Given the description of an element on the screen output the (x, y) to click on. 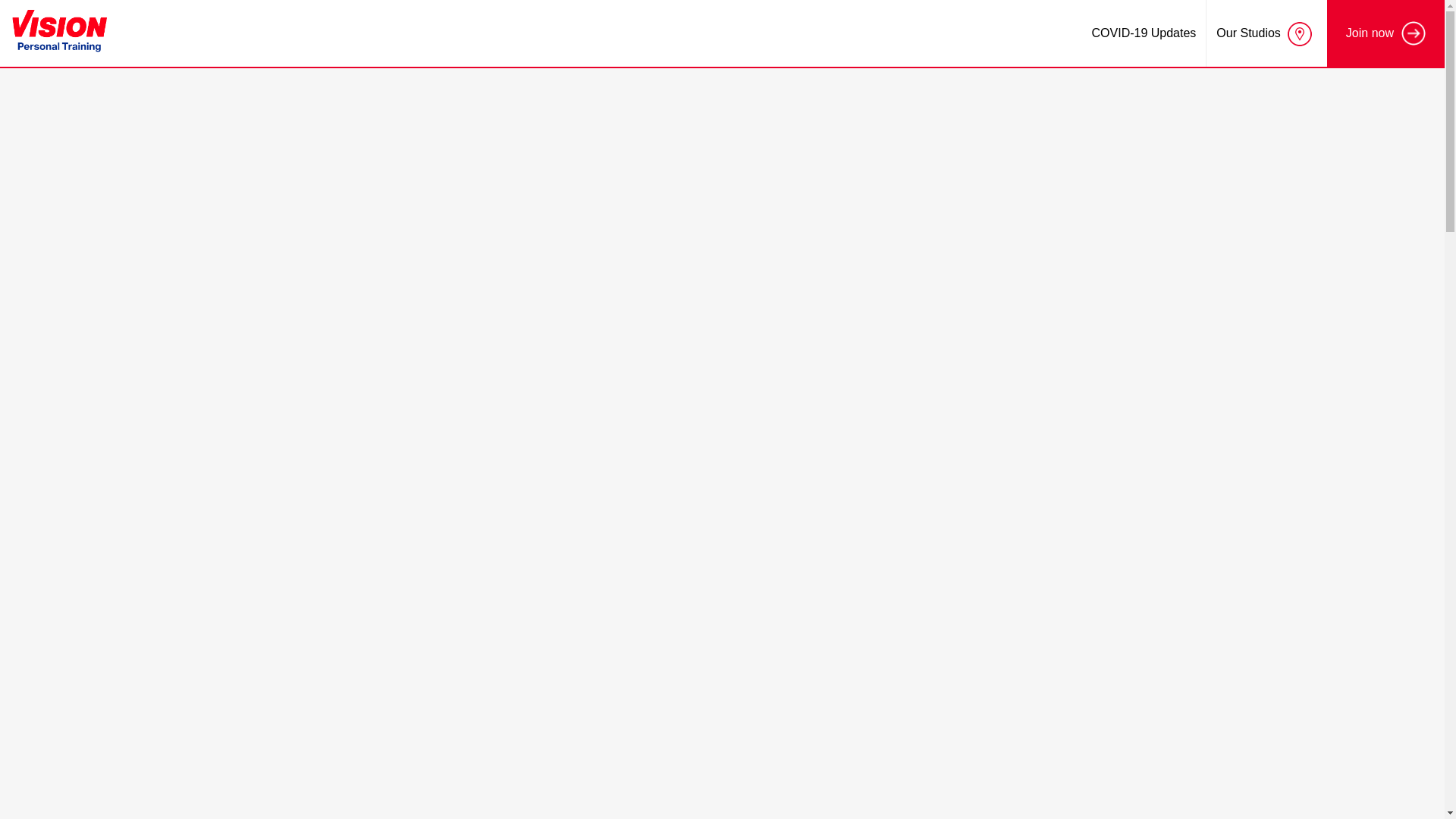
COVID-19 Updates (1144, 33)
COVID-19 Updates (1144, 33)
Our Studios (1266, 33)
Join now (1385, 33)
Our Studios (1266, 33)
